Given the description of an element on the screen output the (x, y) to click on. 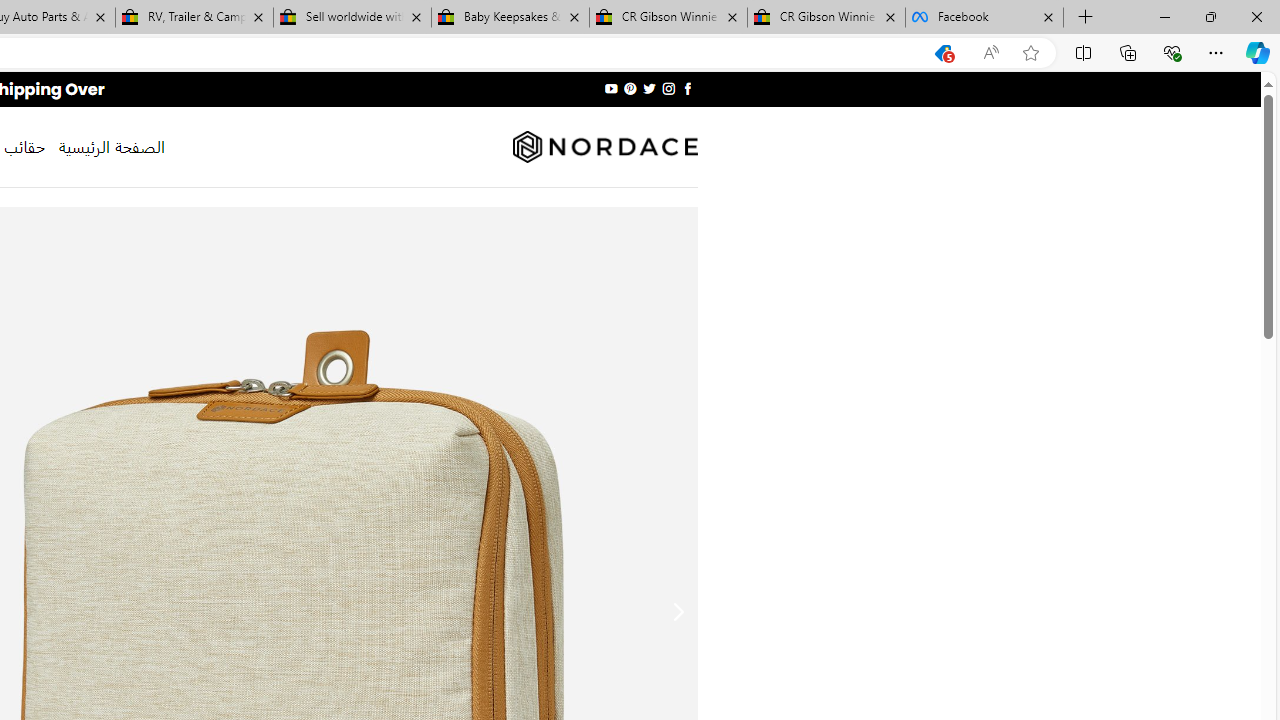
Baby Keepsakes & Announcements for sale | eBay (509, 17)
Restore (1210, 16)
Close tab (1048, 16)
Split screen (1083, 52)
Add this page to favorites (Ctrl+D) (1030, 53)
RV, Trailer & Camper Steps & Ladders for sale | eBay (194, 17)
Nordace (604, 147)
Follow on YouTube (611, 88)
Browser essentials (1171, 52)
Collections (1128, 52)
Copilot (Ctrl+Shift+.) (1258, 52)
